Given the description of an element on the screen output the (x, y) to click on. 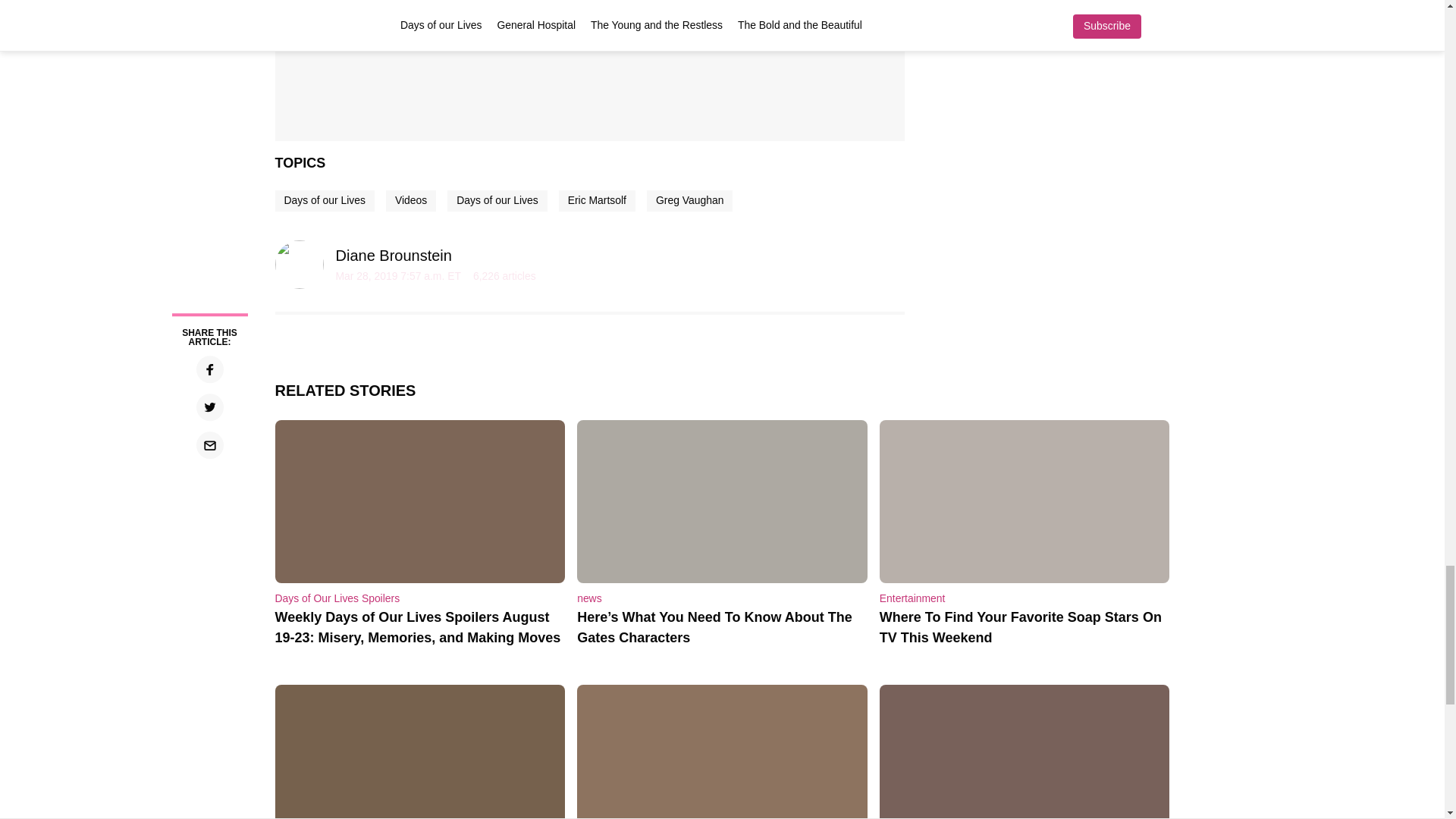
Days of our Lives (496, 200)
Days of our Lives (324, 200)
Videos (410, 200)
Diane Brounstein (392, 255)
Greg Vaughan (689, 200)
Eric Martsolf (596, 200)
